Given the description of an element on the screen output the (x, y) to click on. 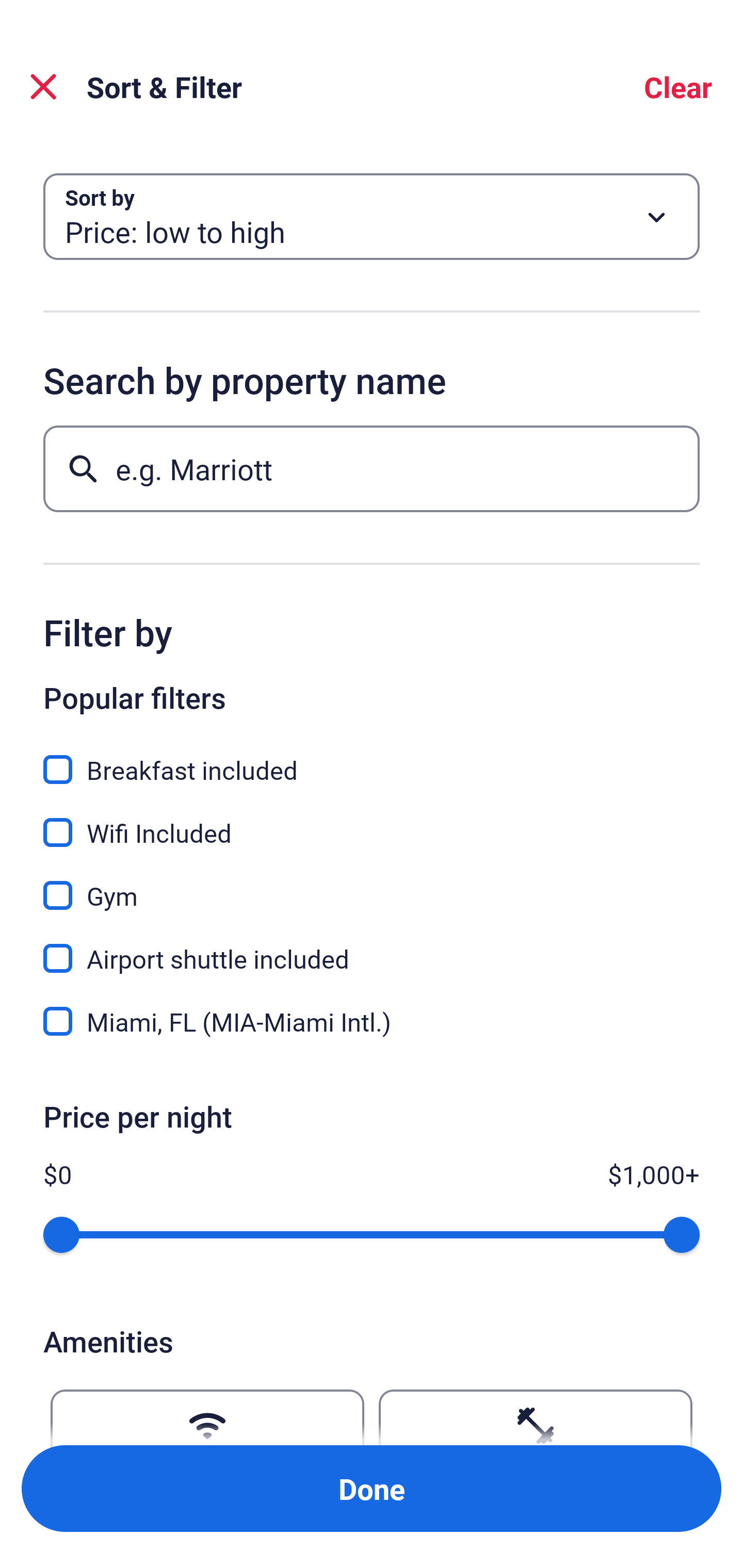
Close Sort and Filter (43, 86)
Clear (677, 86)
Sort by Button Price: low to high (371, 217)
e.g. Marriott Button (371, 468)
Breakfast included, Breakfast included (371, 757)
Wifi Included, Wifi Included (371, 821)
Gym, Gym (371, 883)
Airport shuttle included, Airport shuttle included (371, 946)
Apply and close Sort and Filter Done (371, 1488)
